Given the description of an element on the screen output the (x, y) to click on. 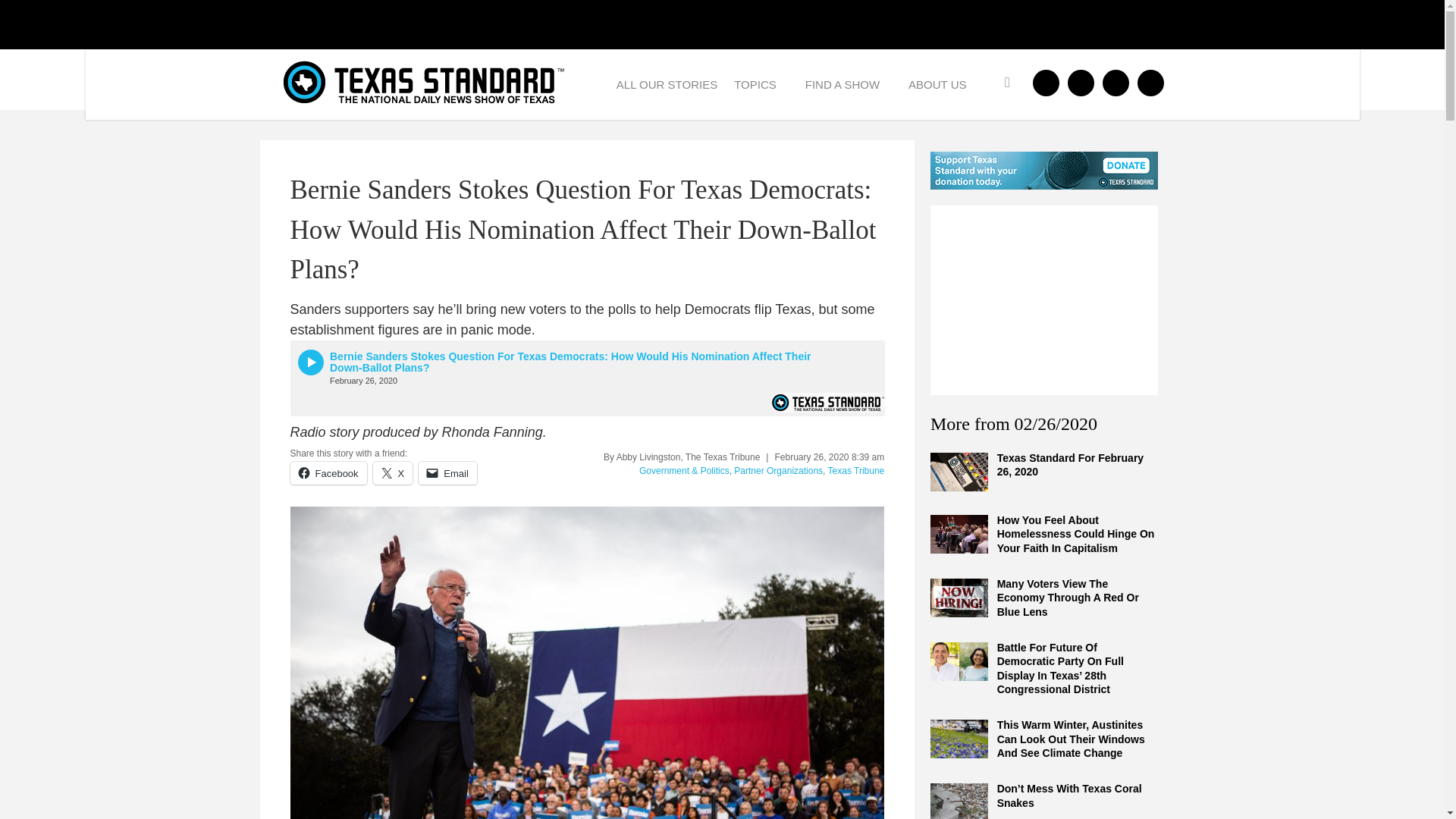
3rd party ad content (1043, 299)
ALL OUR STORIES (666, 82)
Click to email a link to a friend (448, 472)
TOPICS (761, 82)
Click to share on Facebook (327, 472)
Media player (586, 377)
Click to share on X (392, 472)
